Given the description of an element on the screen output the (x, y) to click on. 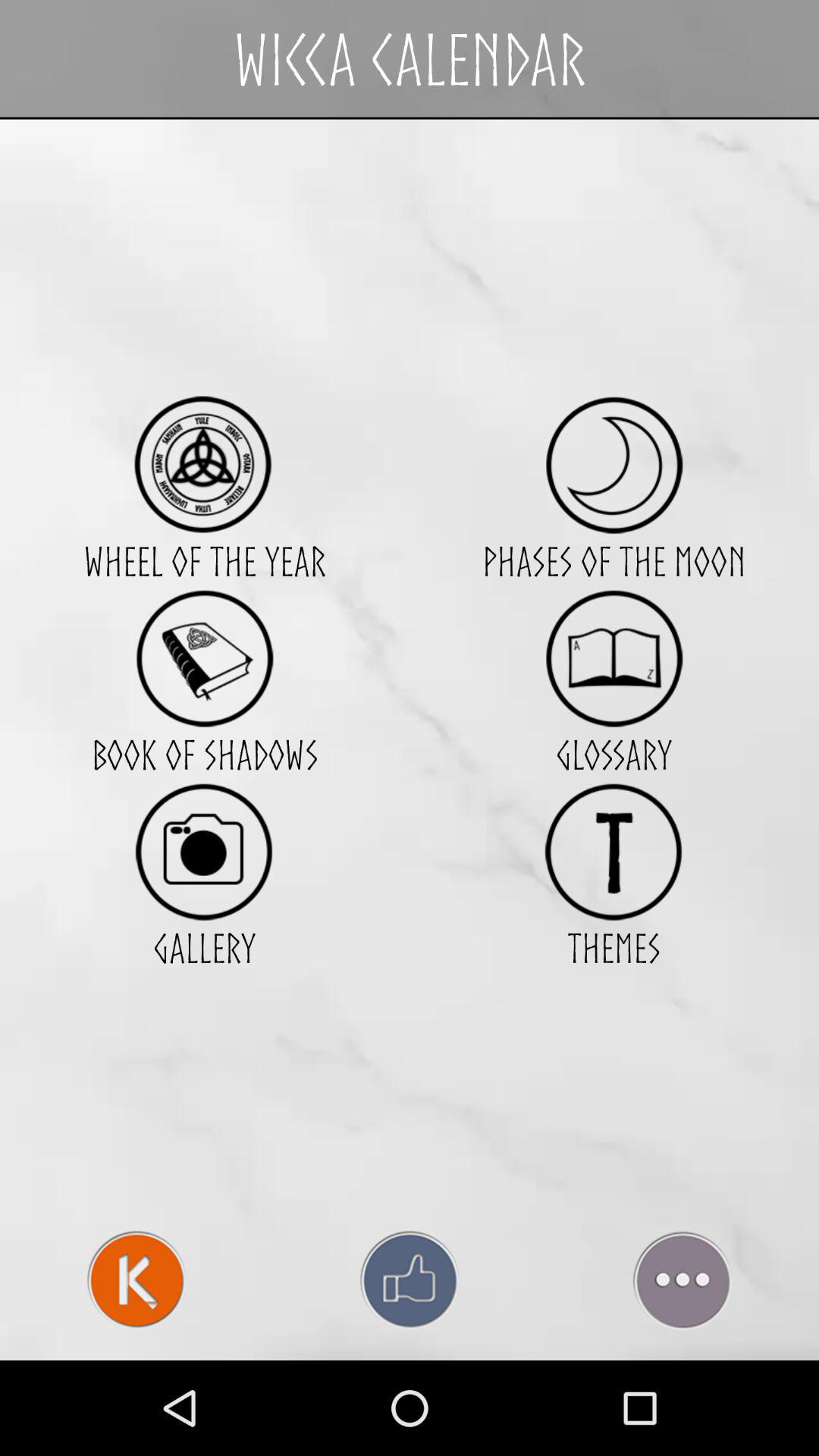
turn off the icon next to the phases of the app (204, 658)
